Given the description of an element on the screen output the (x, y) to click on. 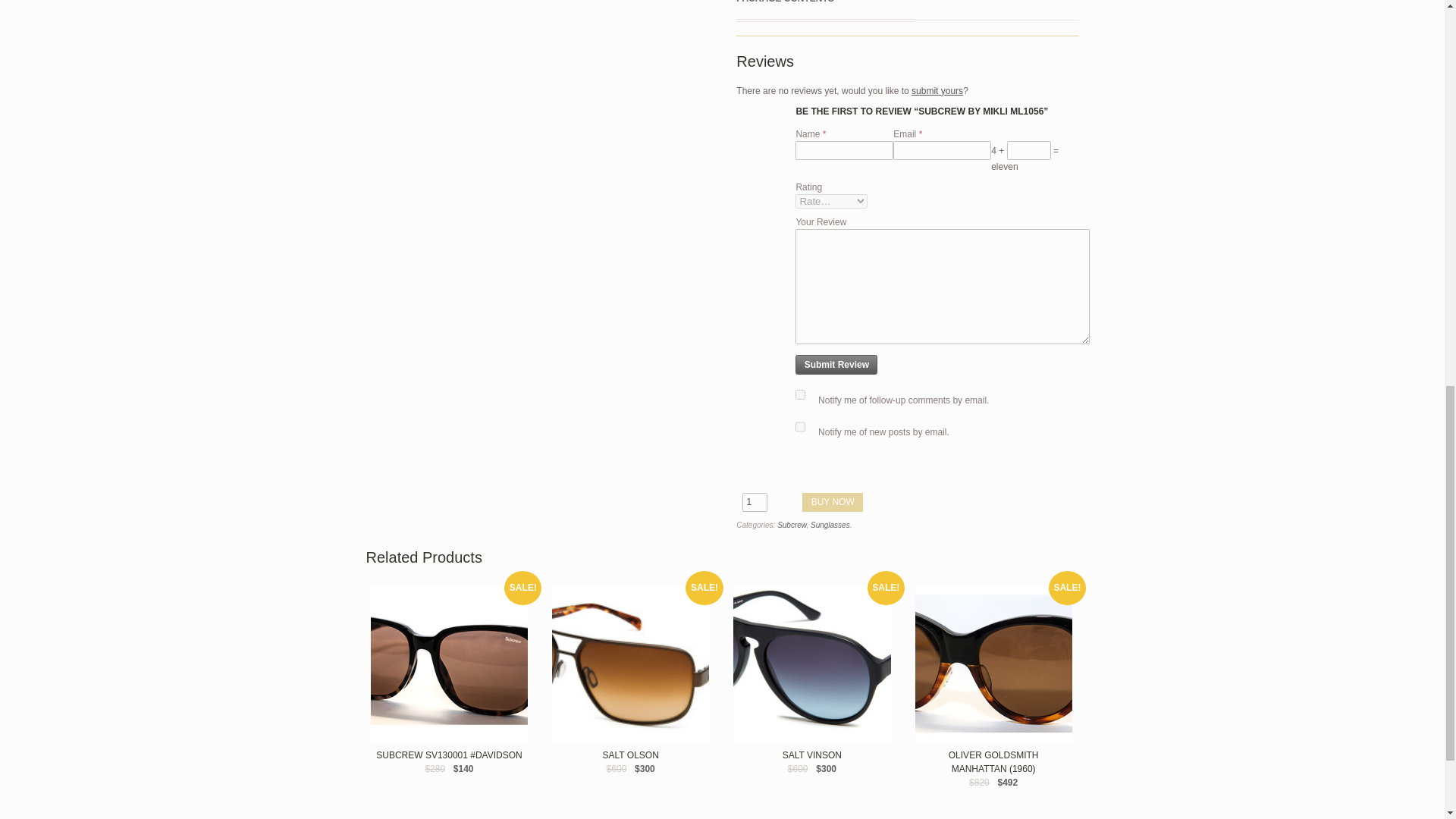
1 (754, 502)
Submit Review (835, 364)
Qty (754, 502)
